Given the description of an element on the screen output the (x, y) to click on. 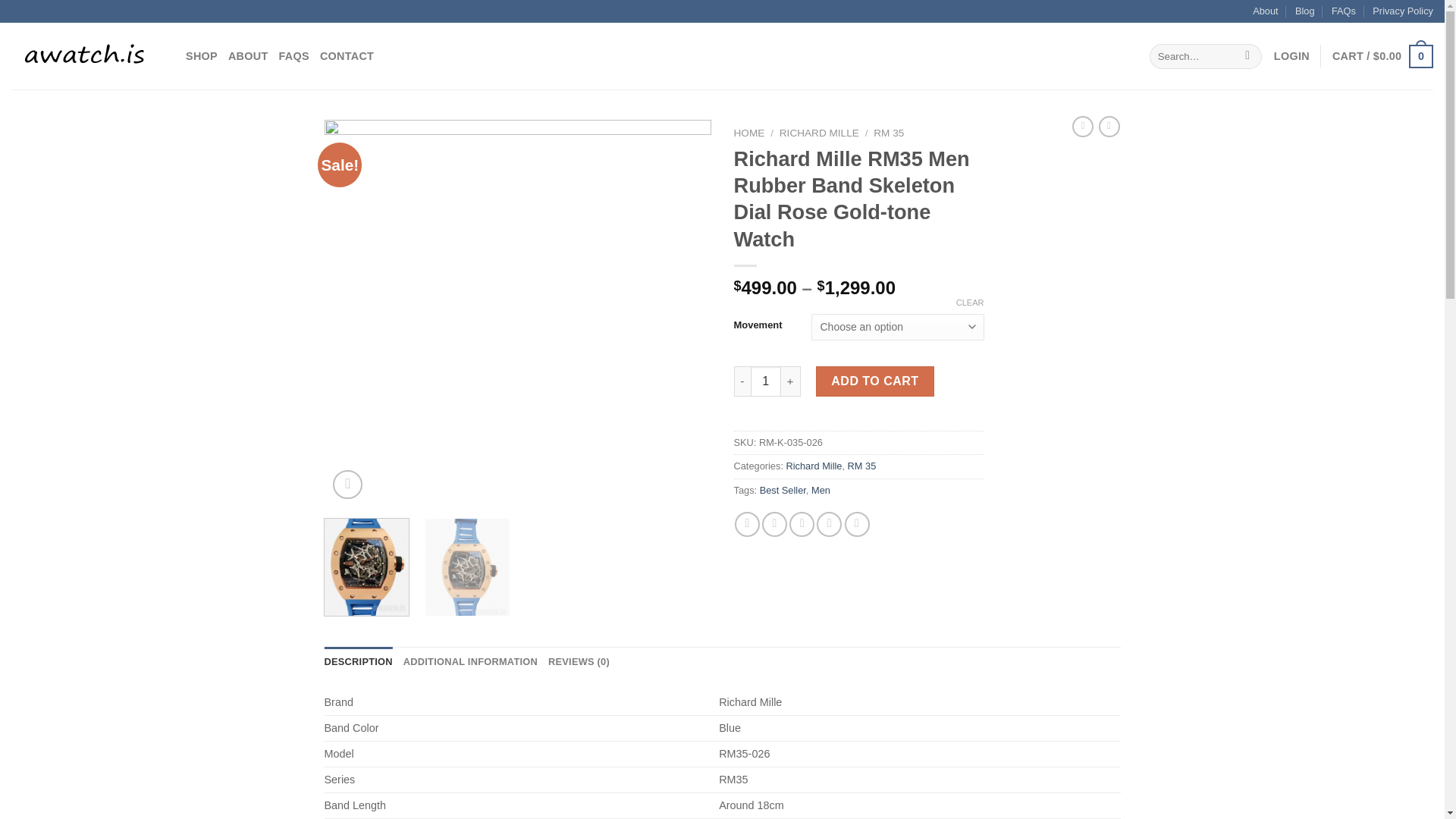
CLEAR (970, 302)
Richard Mille (813, 465)
1 (765, 381)
HOME (749, 132)
ABOUT (247, 55)
Privacy Policy (1402, 11)
Cart (1382, 55)
Share on Facebook (747, 524)
About (1265, 11)
Zoom (347, 484)
Best Seller (783, 490)
Pin on Pinterest (828, 524)
RM 35 (861, 465)
FAQs (1343, 11)
